Given the description of an element on the screen output the (x, y) to click on. 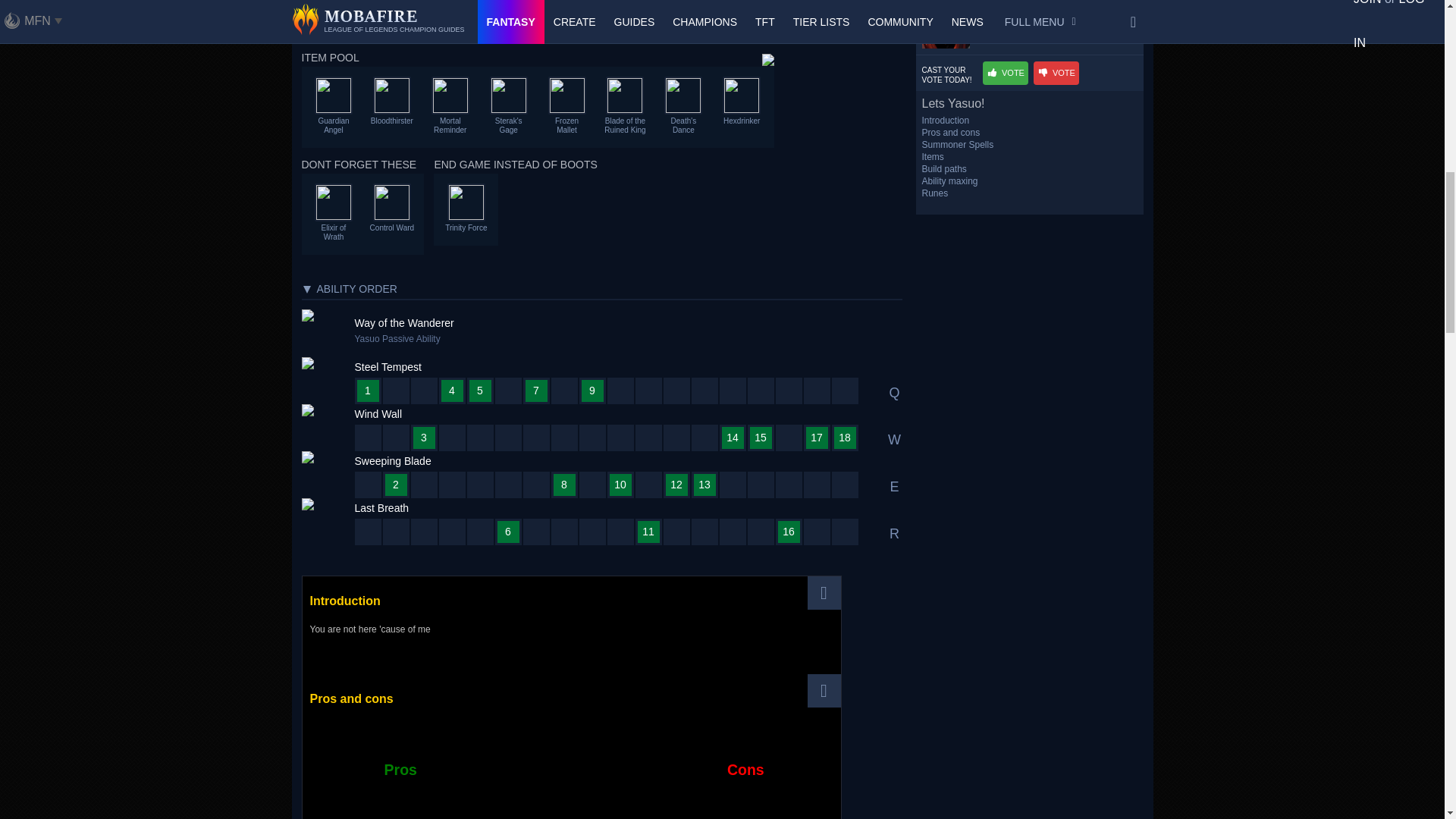
Way of the Wanderer (319, 746)
Wind Wall (363, 746)
Everything explained in the item chapter. (767, 60)
Last Breath (405, 746)
Archaic Knowledge (745, 815)
Sweeping Blade (385, 746)
Brute Force (399, 815)
Steel Tempest (341, 746)
